Given the description of an element on the screen output the (x, y) to click on. 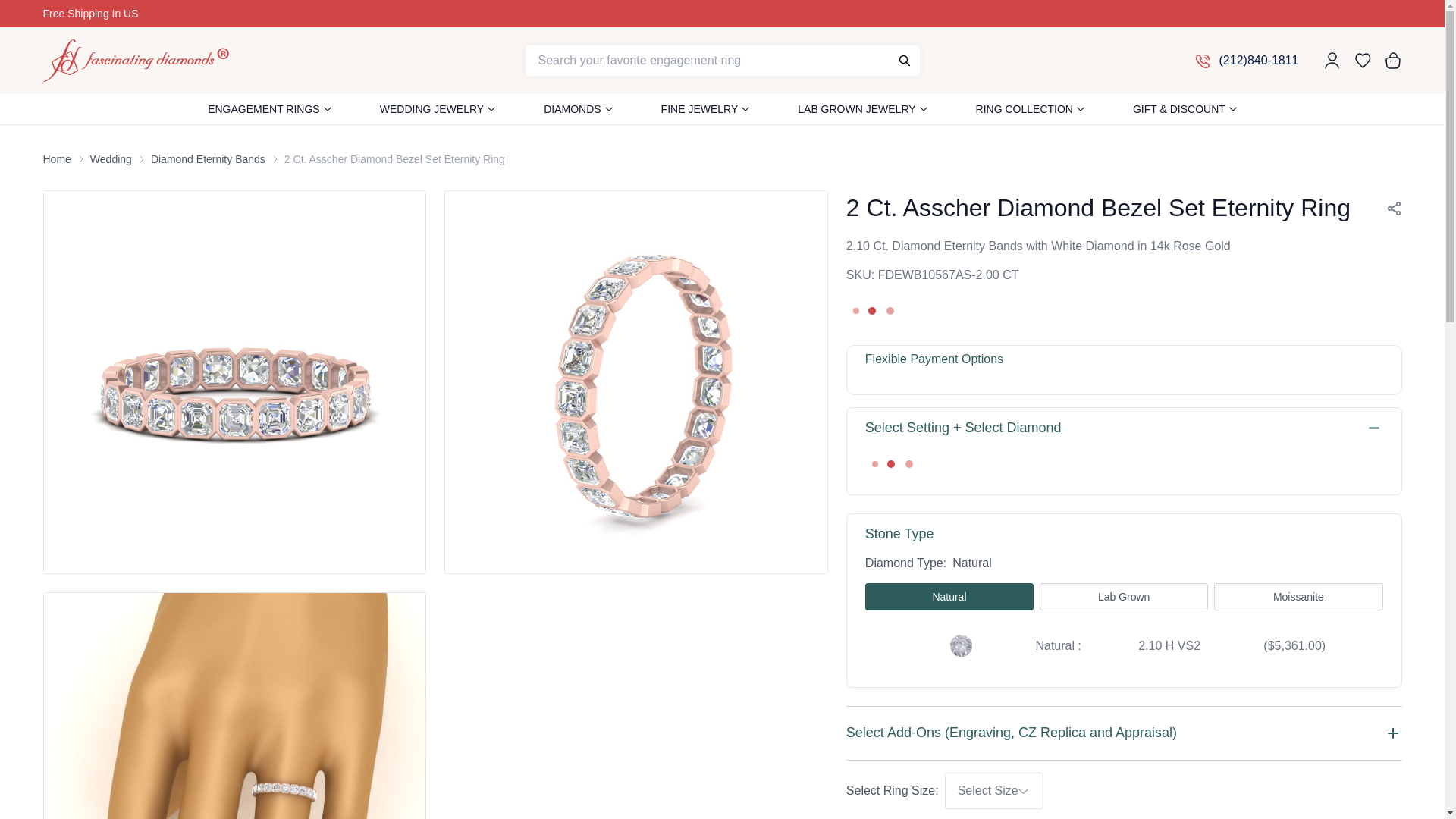
WEDDING JEWELRY (431, 109)
ENGAGEMENT RINGS (264, 109)
Free Shipping In US (145, 13)
Header Logo (135, 60)
